Given the description of an element on the screen output the (x, y) to click on. 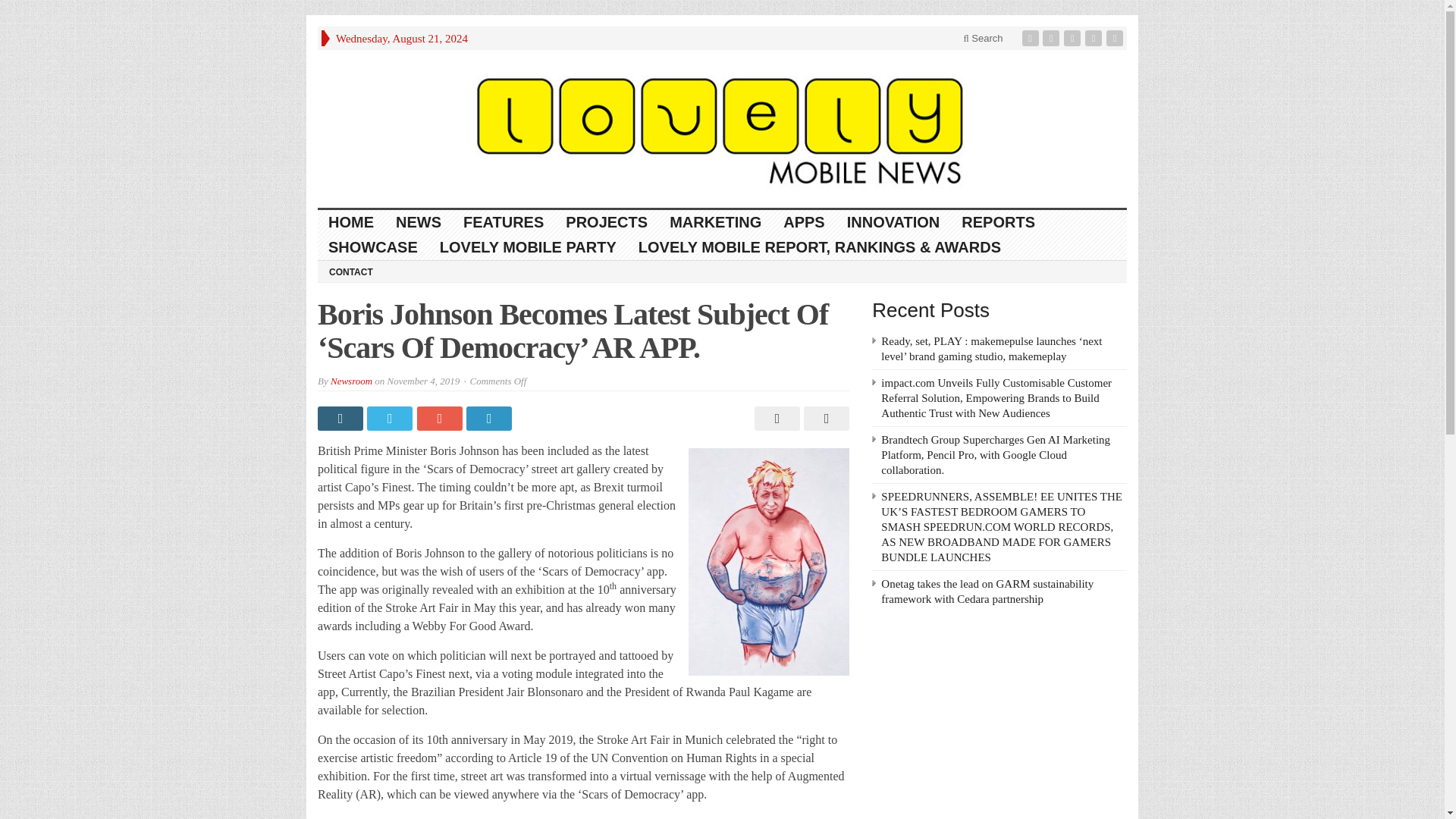
Share on Facebook (341, 418)
LOVELY MOBILE PARTY (528, 247)
Facebook (1032, 37)
Print This Post (775, 418)
Send by Email (823, 418)
Share on LinkedIn (490, 418)
FEATURES (503, 222)
Twitter (1052, 37)
PROJECTS (606, 222)
MARKETING (716, 222)
